Given the description of an element on the screen output the (x, y) to click on. 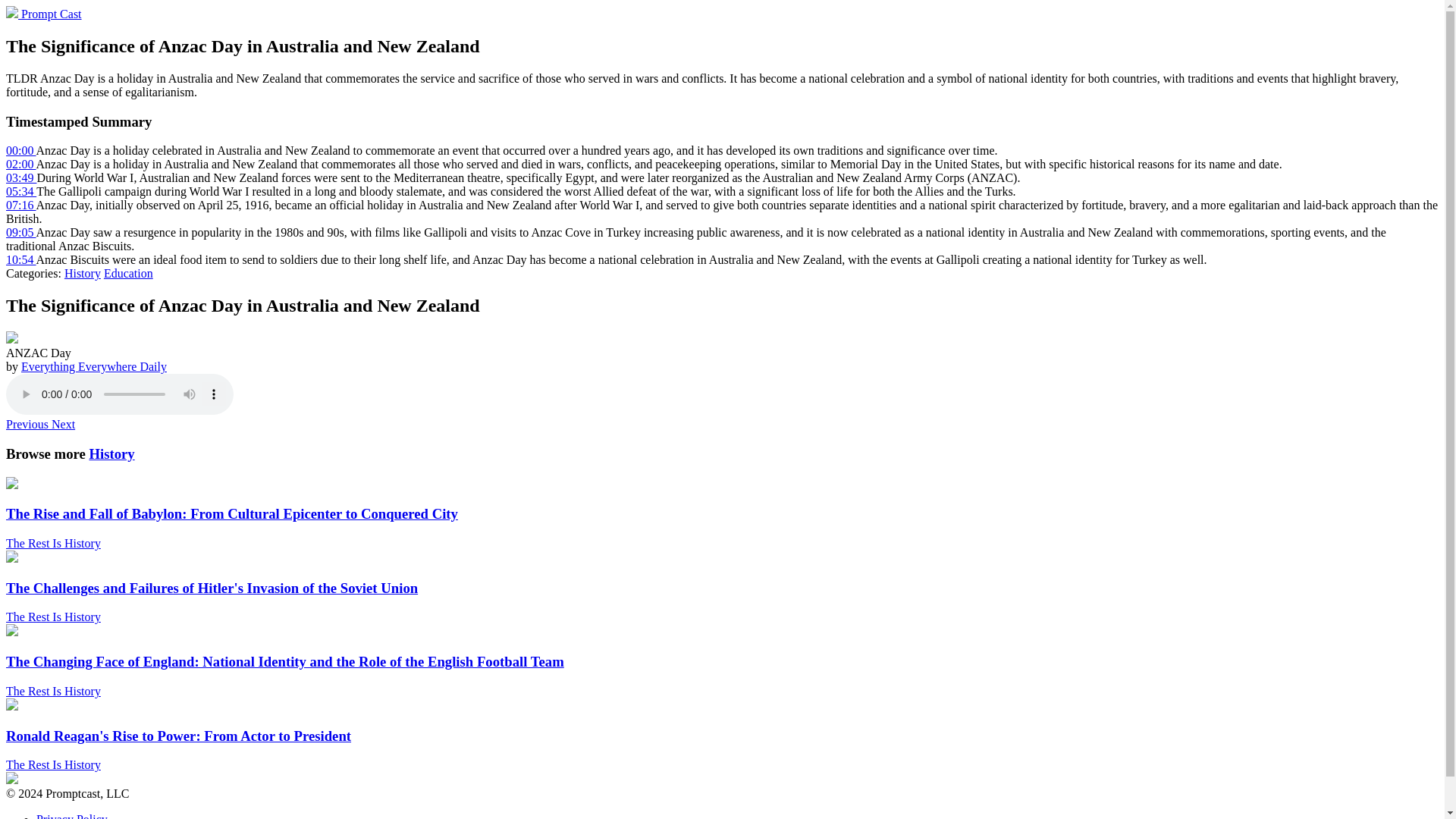
00:00 (20, 150)
05:34 (20, 191)
Everything Everywhere Daily (94, 366)
Prompt Cast (43, 13)
07:16 (20, 205)
Privacy Policy (71, 816)
History (110, 453)
02:00 (20, 164)
10:54 (20, 259)
03:49 (20, 177)
History (82, 273)
Previous (27, 423)
Next (62, 423)
Education (127, 273)
09:05 (20, 232)
